Given the description of an element on the screen output the (x, y) to click on. 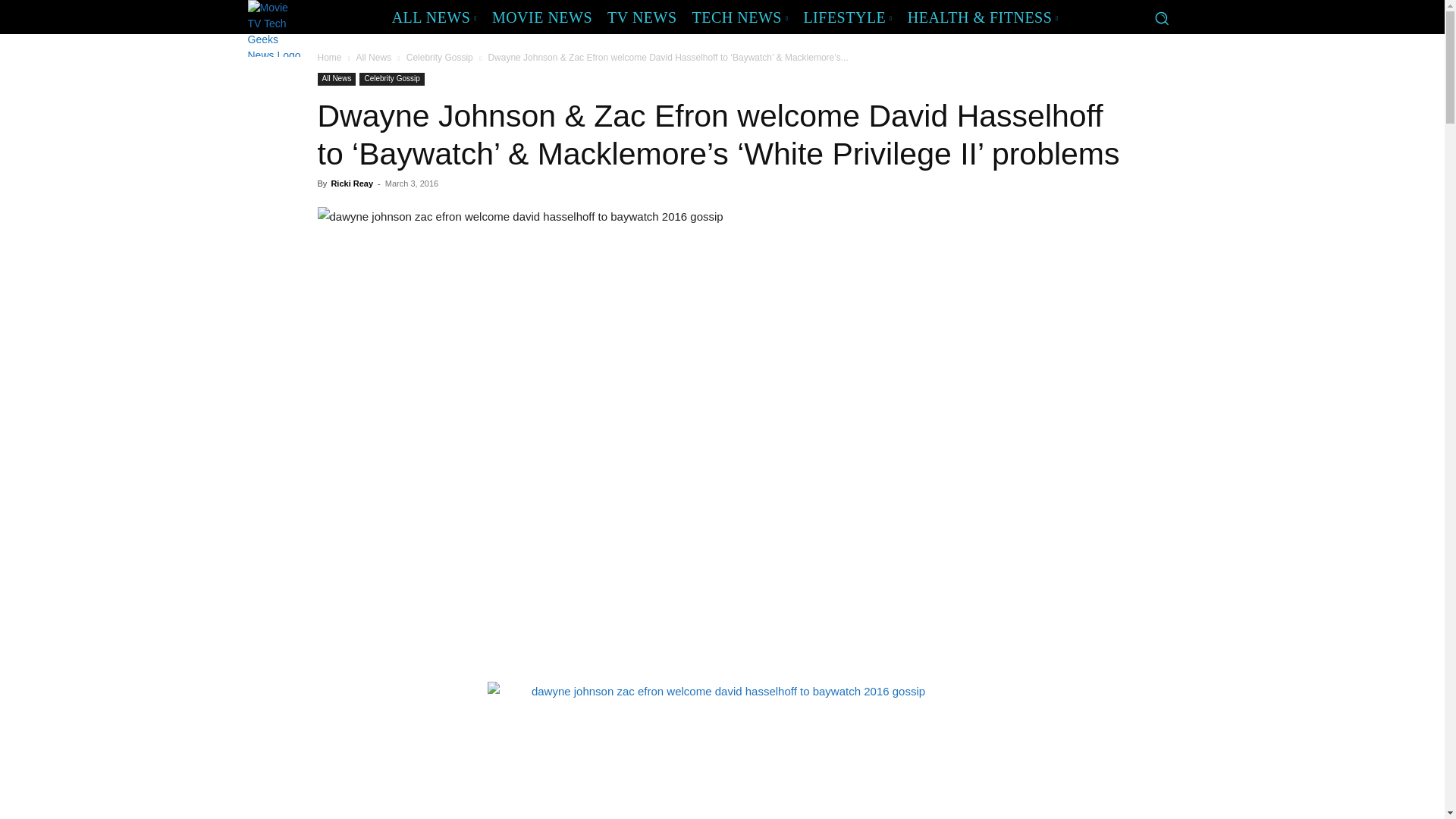
Movie TV Tech Geeks News Logo (274, 28)
ALL NEWS (434, 17)
View all posts in All News (373, 57)
Celebrity Gossip (439, 57)
TV NEWS (641, 17)
View all posts in Celebrity Gossip (439, 57)
All News (373, 57)
MOVIE NEWS (541, 17)
LIFESTYLE (846, 17)
Ricki Reay (351, 183)
Home (328, 57)
TECH NEWS (740, 17)
Celebrity Gossip (391, 78)
All News (336, 78)
